Given the description of an element on the screen output the (x, y) to click on. 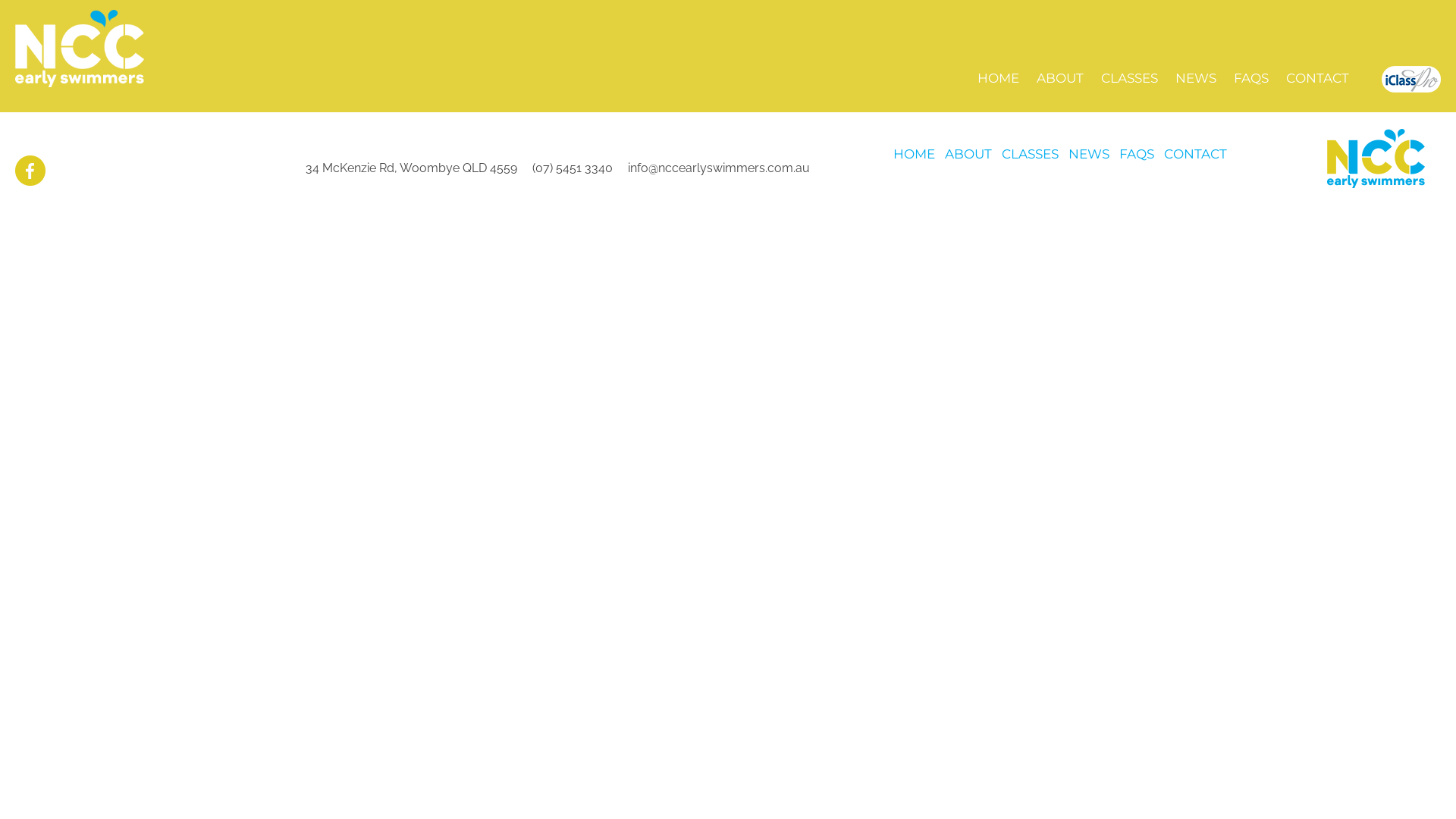
NEWS Element type: text (1088, 153)
(07) 5451 3340 Element type: text (572, 168)
34 McKenzie Rd, Woombye QLD 4559 Element type: text (411, 168)
CONTACT Element type: text (1195, 153)
HOME Element type: text (914, 153)
CLASSES Element type: text (1029, 153)
info@nccearlyswimmers.com.au Element type: text (718, 168)
FAQS Element type: text (1136, 153)
CLASSES Element type: text (1129, 71)
HOME Element type: text (997, 71)
ABOUT Element type: text (967, 153)
ABOUT Element type: text (1060, 71)
CONTACT Element type: text (1317, 71)
FAQS Element type: text (1251, 71)
NEWS Element type: text (1195, 71)
